Given the description of an element on the screen output the (x, y) to click on. 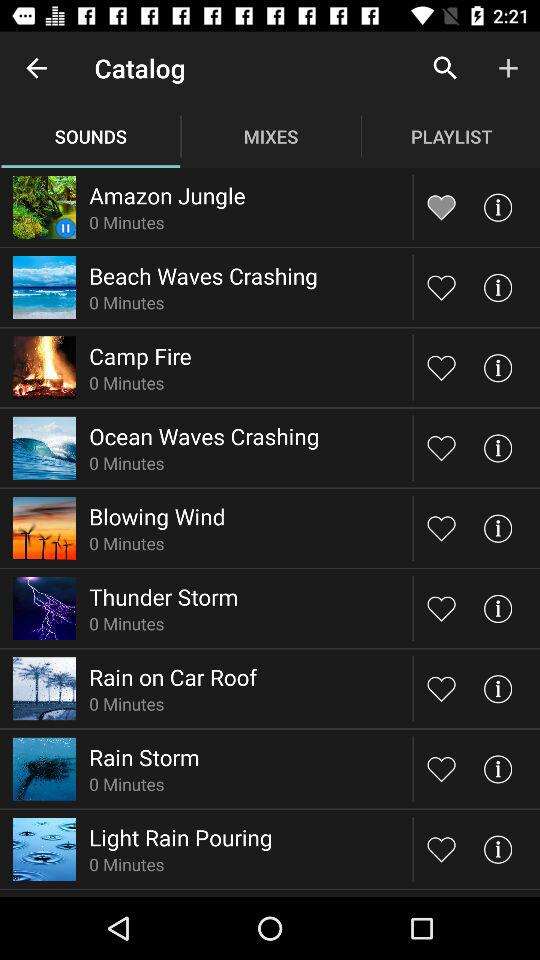
mark as favorite (441, 367)
